Given the description of an element on the screen output the (x, y) to click on. 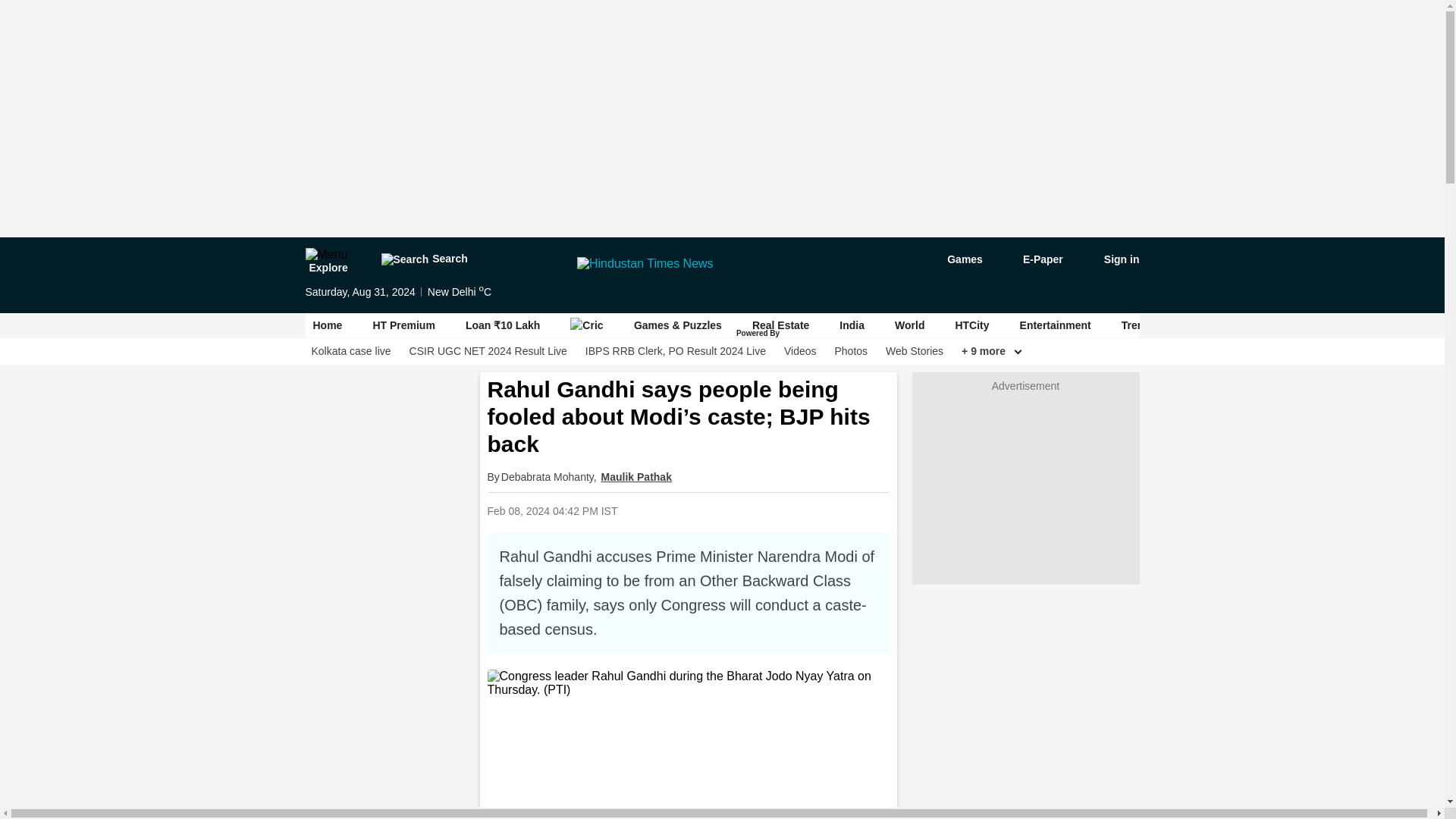
Web Stories (914, 350)
Education (1374, 325)
Home (327, 325)
HTCity (971, 325)
Share on Linkdin (788, 510)
Games (954, 258)
India (852, 325)
Entertainment (1055, 325)
E-Paper (1034, 258)
Search (423, 258)
